Given the description of an element on the screen output the (x, y) to click on. 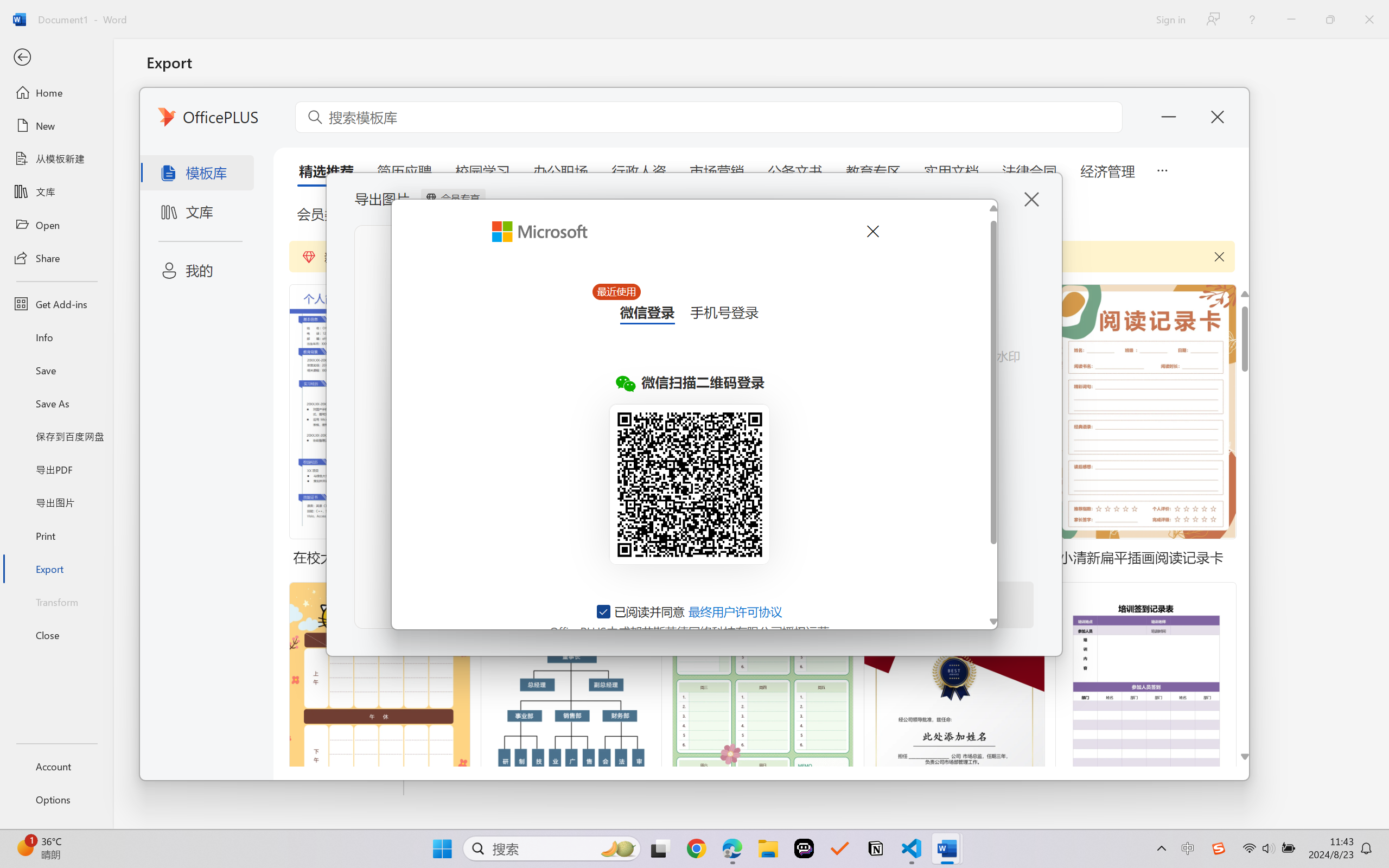
Transform (56, 601)
